Given the description of an element on the screen output the (x, y) to click on. 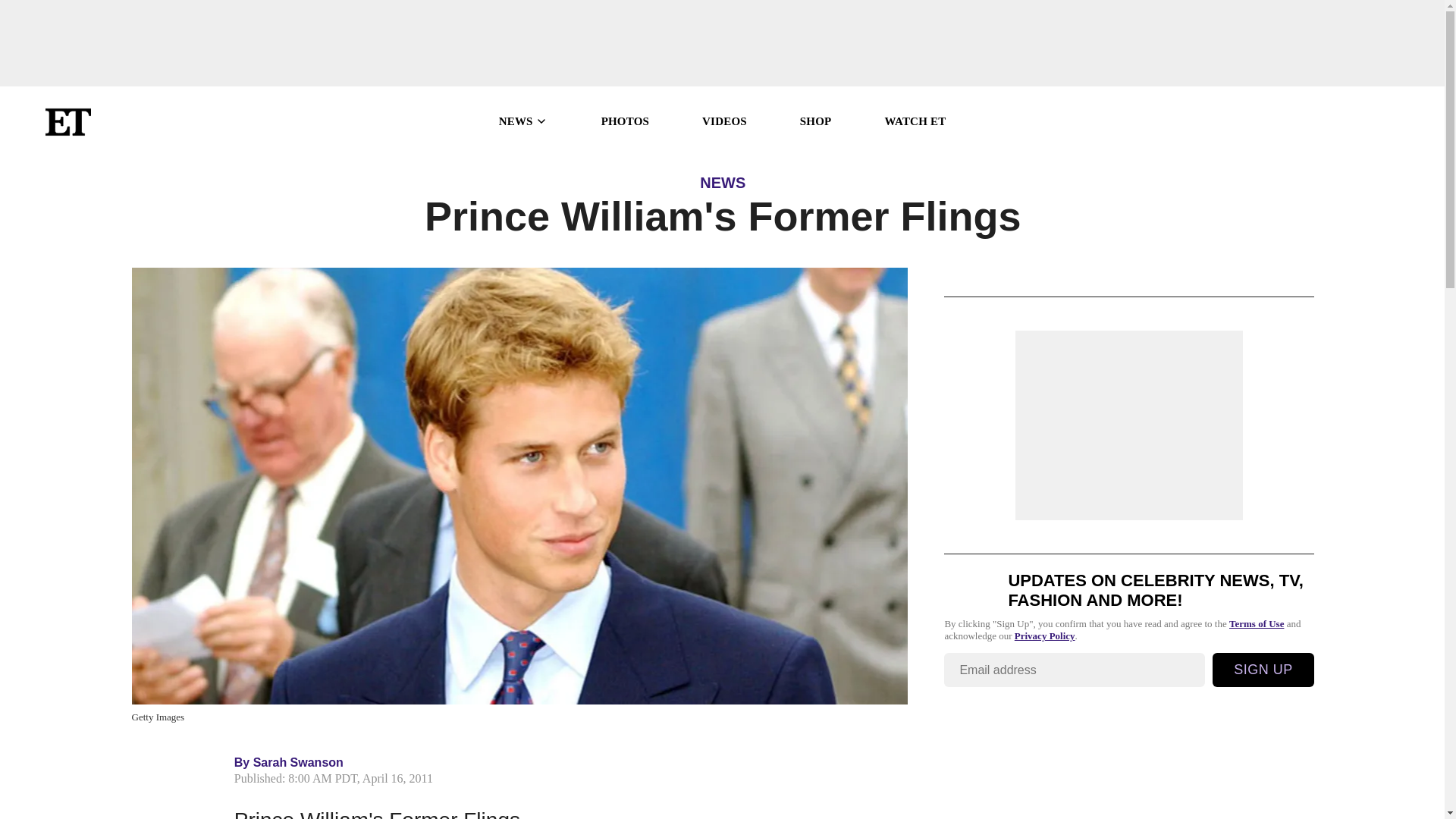
PHOTOS (625, 120)
NEWS (722, 182)
NEWS (523, 120)
WATCH ET (913, 120)
VIDEOS (723, 120)
Terms of Use (1256, 623)
Privacy Policy (1044, 635)
SIGN UP (1263, 669)
SHOP (815, 120)
